Given the description of an element on the screen output the (x, y) to click on. 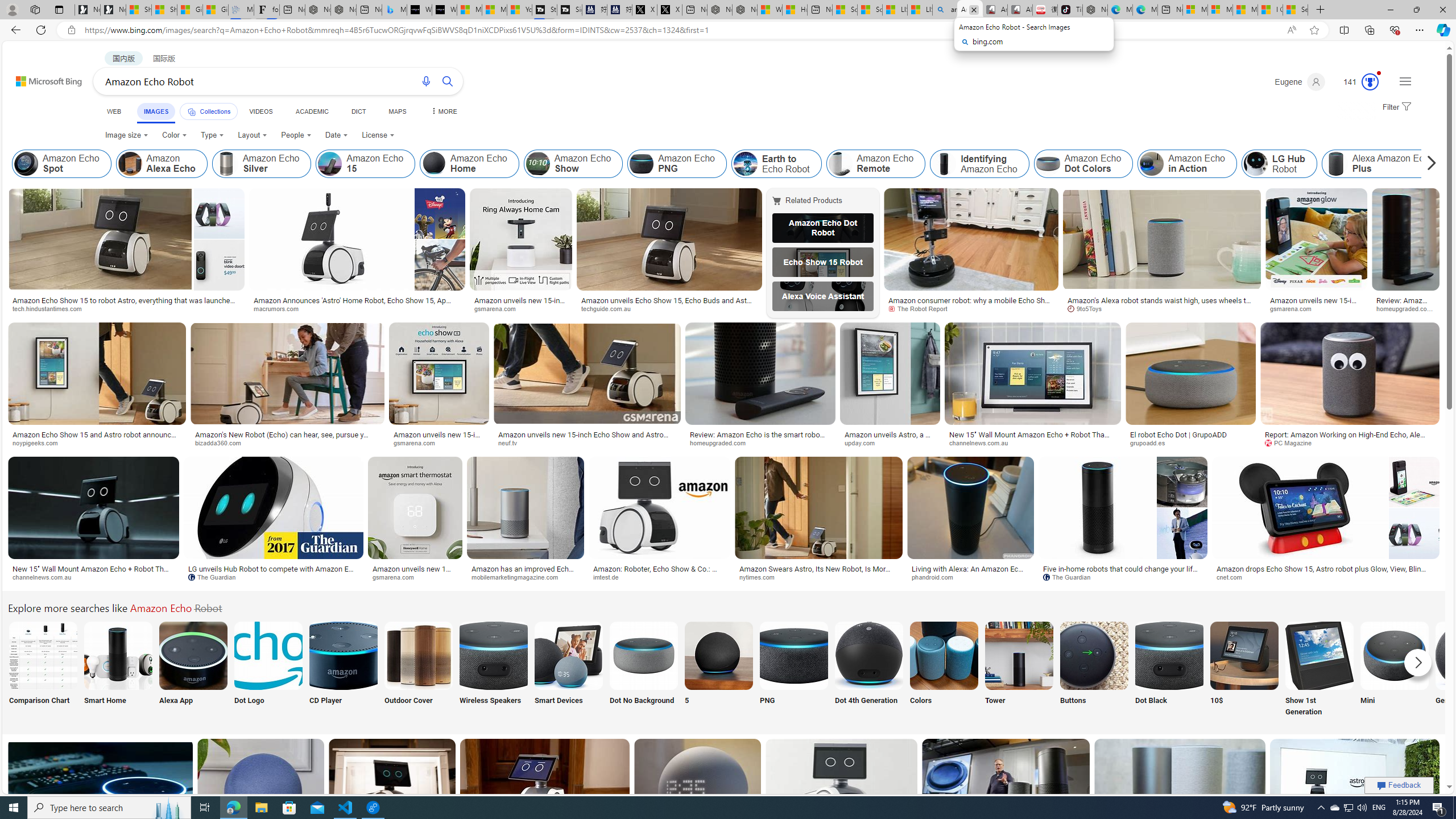
Streaming Coverage | T3 (544, 9)
Amazon Echo Dot Photo No Background (644, 654)
Amazon Echo Mini Mini (1393, 669)
DICT (357, 111)
Amazon Echo Dot Black Dot Black (1169, 669)
Amazon Echo Spot (25, 163)
People (295, 135)
Buttons (1093, 669)
